Given the description of an element on the screen output the (x, y) to click on. 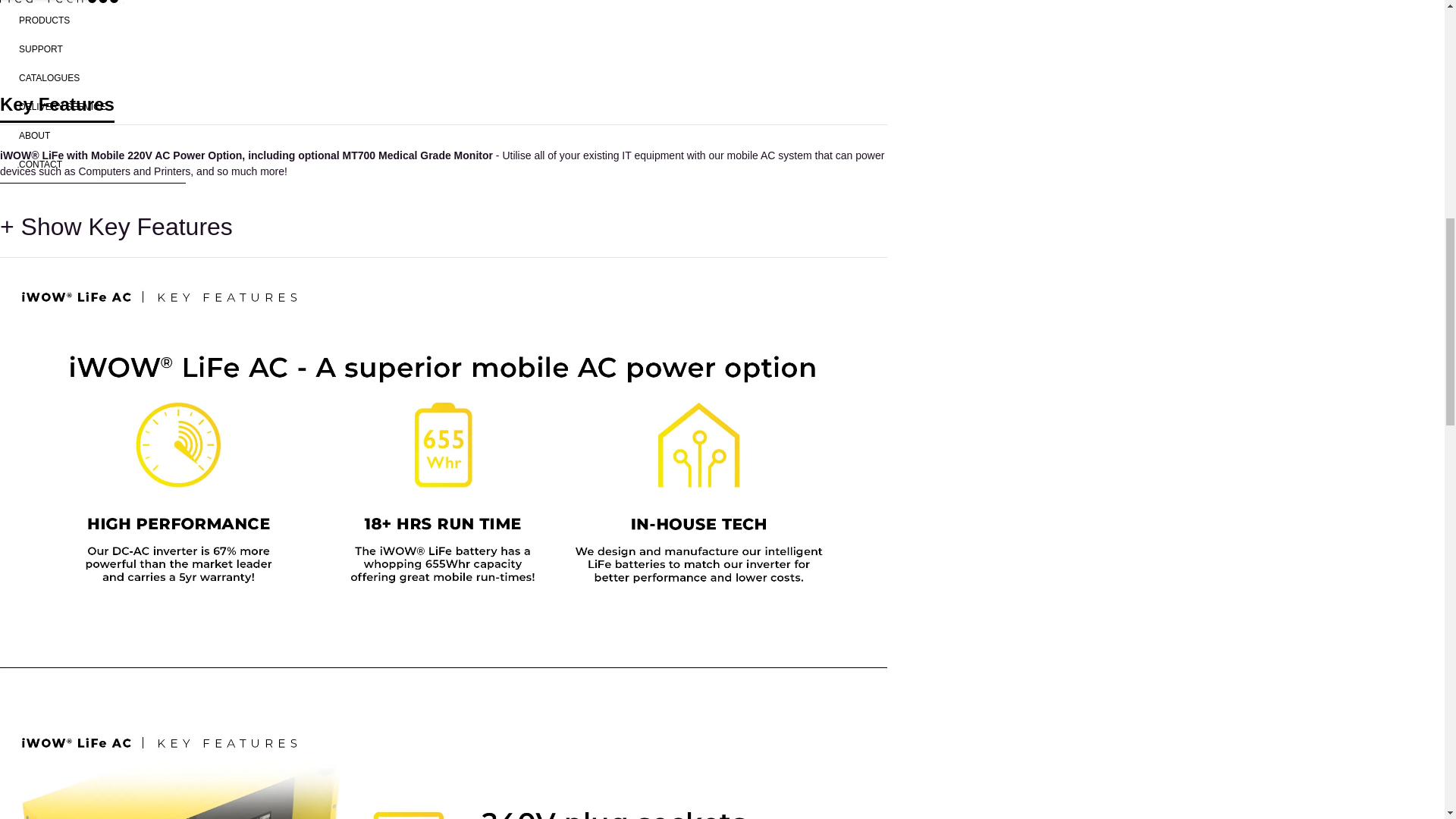
Proceed to Quote Form (456, 54)
Proceed to Quote Form (456, 54)
ADD TO CART (456, 11)
